Given the description of an element on the screen output the (x, y) to click on. 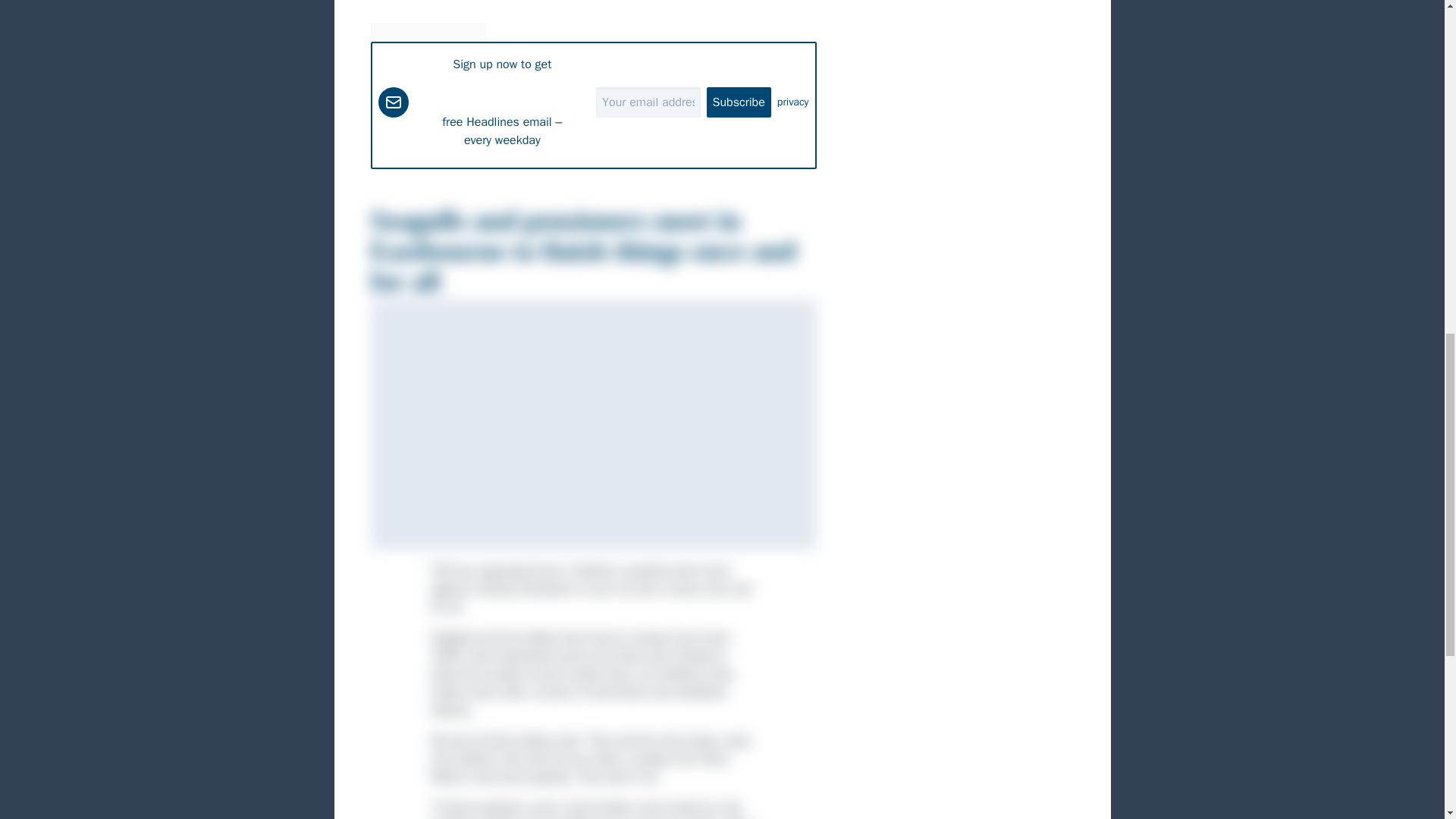
Subscribe (738, 101)
privacy (793, 101)
